Given the description of an element on the screen output the (x, y) to click on. 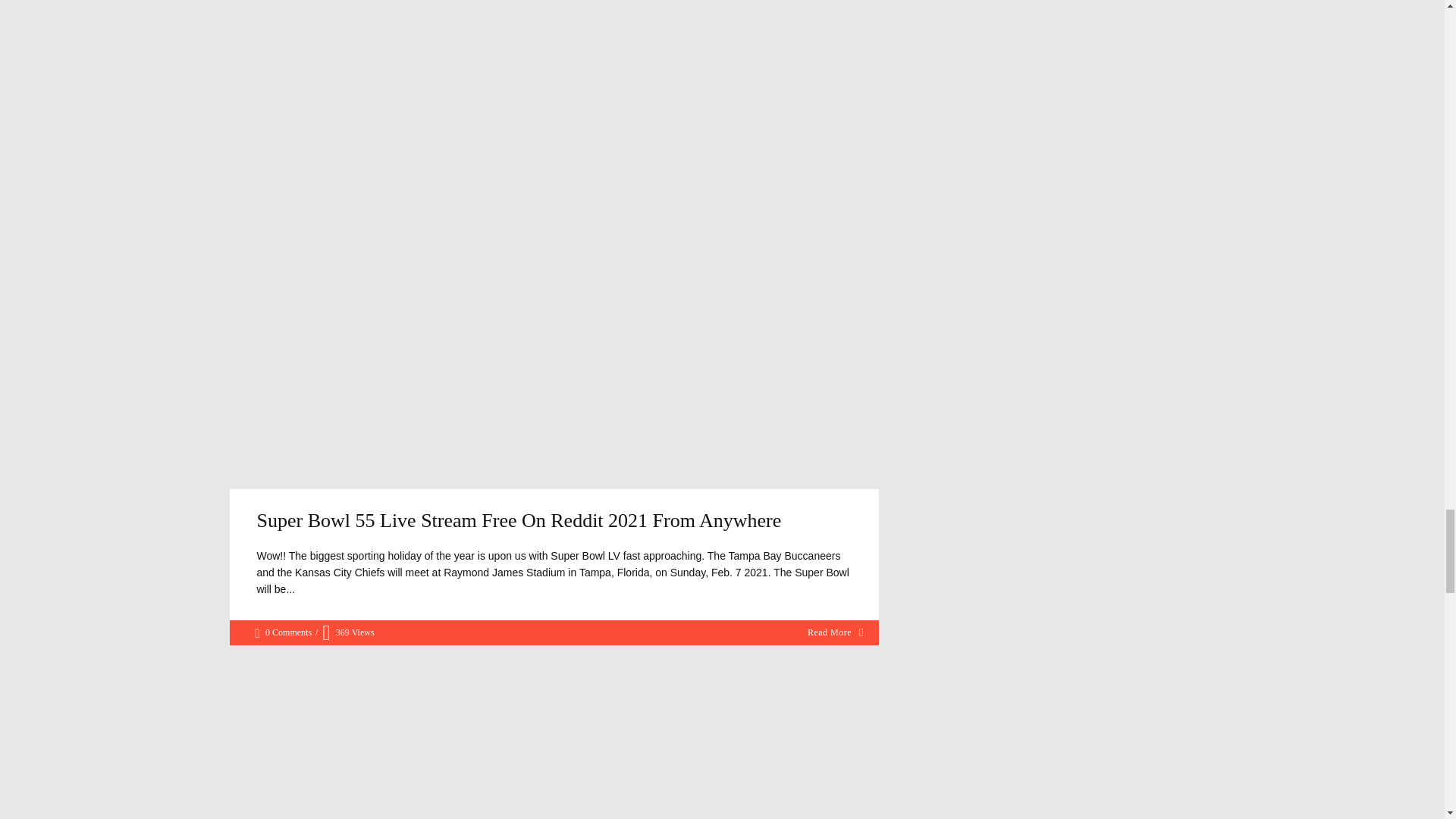
Super Bowl 55 Live stream free on Reddit 2021 From Anywhere (518, 520)
